Given the description of an element on the screen output the (x, y) to click on. 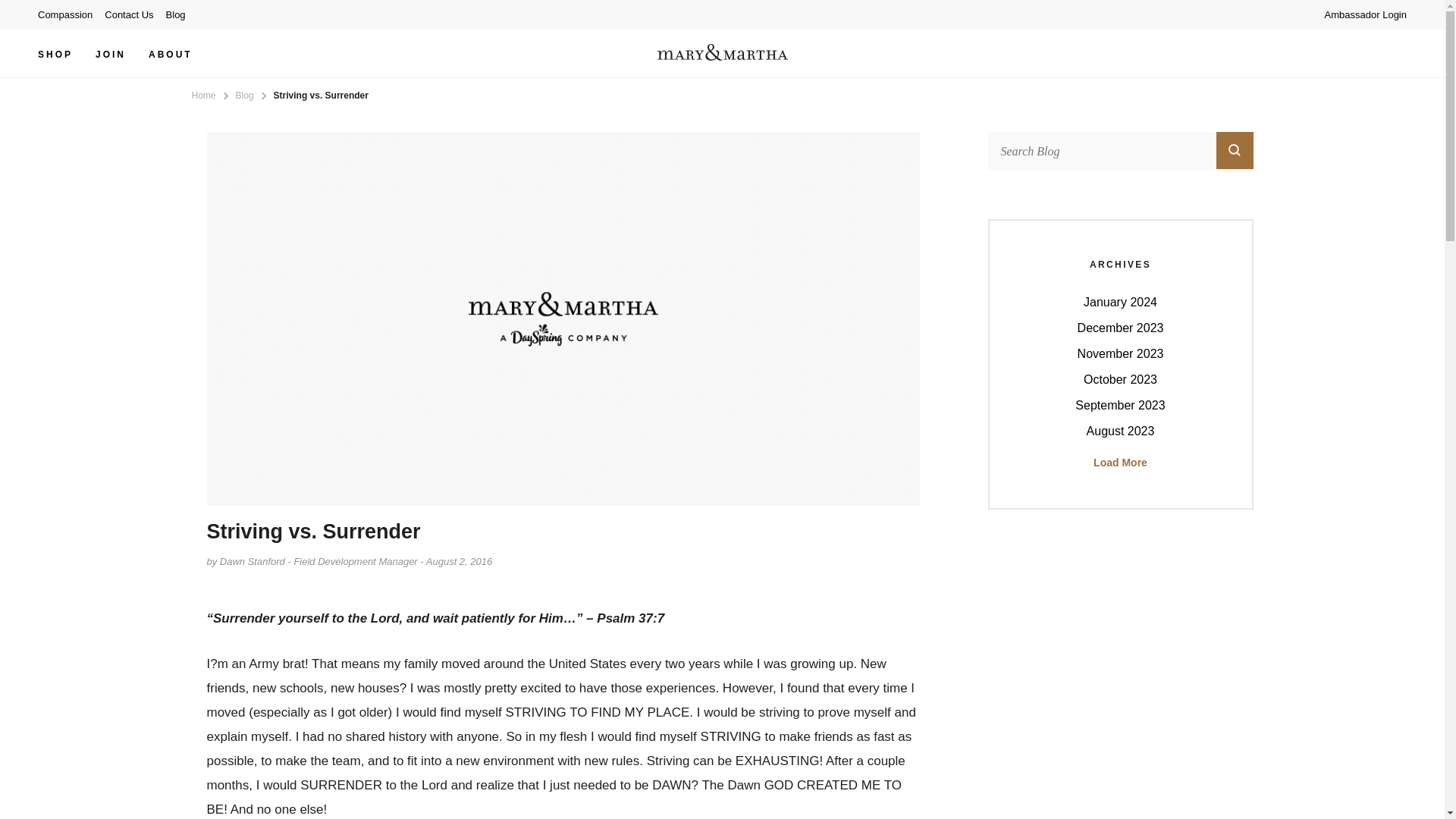
SHOP (54, 52)
Blog (176, 14)
Compassion (68, 14)
Ambassador Login (1362, 14)
Contact Us (128, 14)
